Given the description of an element on the screen output the (x, y) to click on. 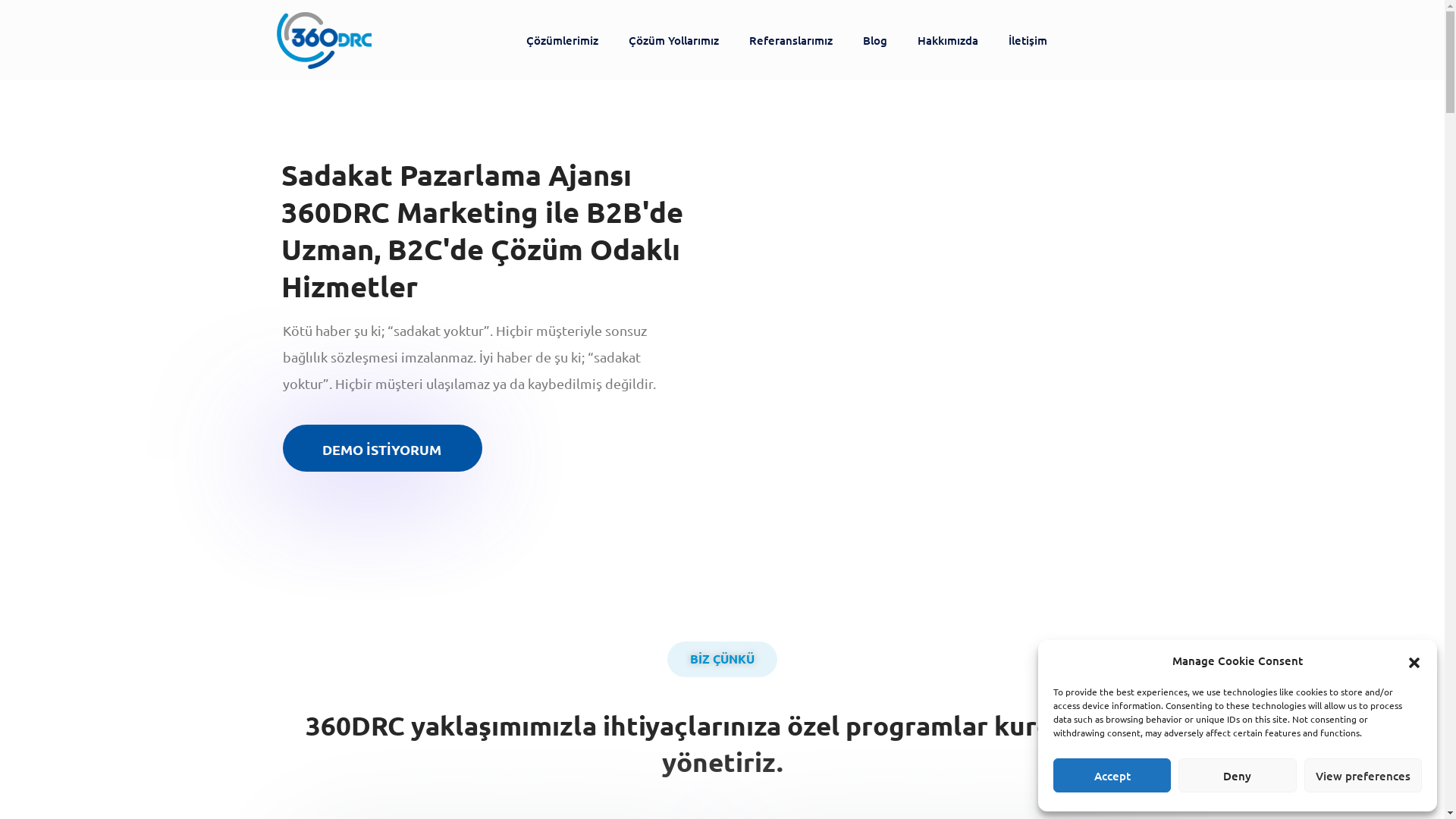
Blog Element type: text (874, 39)
Accept Element type: text (1111, 775)
Deny Element type: text (1236, 775)
View preferences Element type: text (1362, 775)
